Given the description of an element on the screen output the (x, y) to click on. 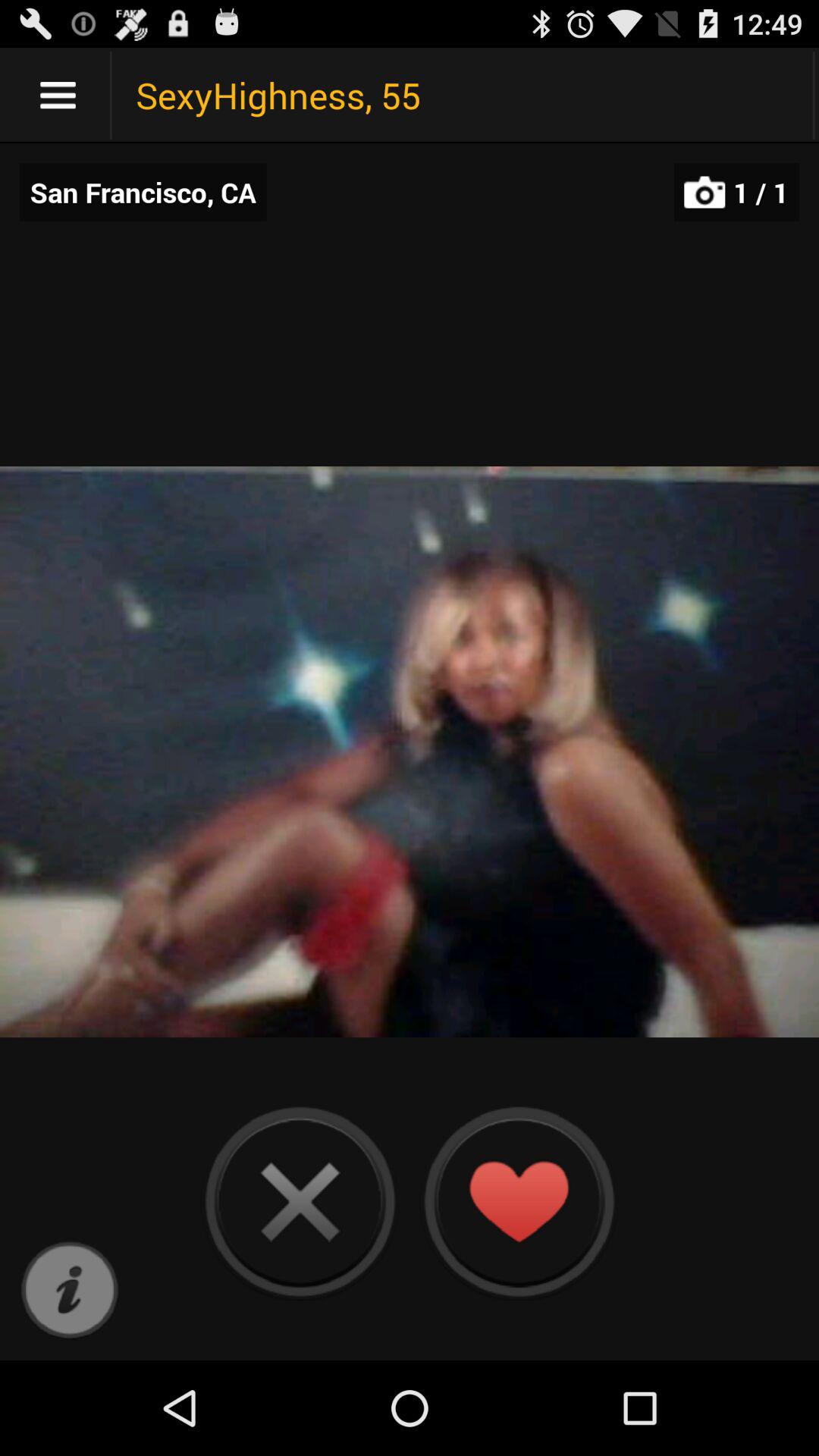
favorite profile (518, 1200)
